Given the description of an element on the screen output the (x, y) to click on. 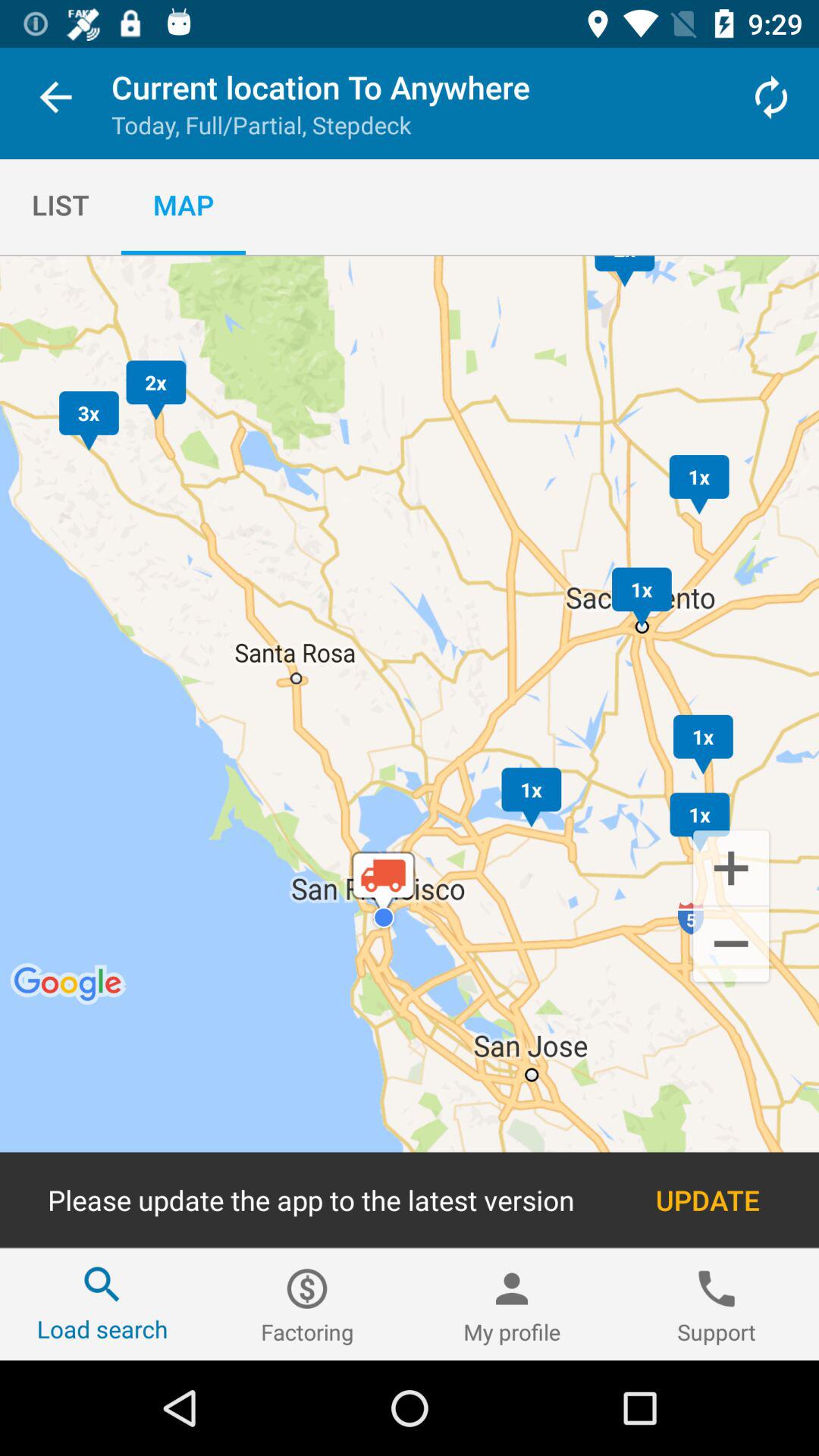
select icon to the left of the factoring icon (102, 1304)
